Given the description of an element on the screen output the (x, y) to click on. 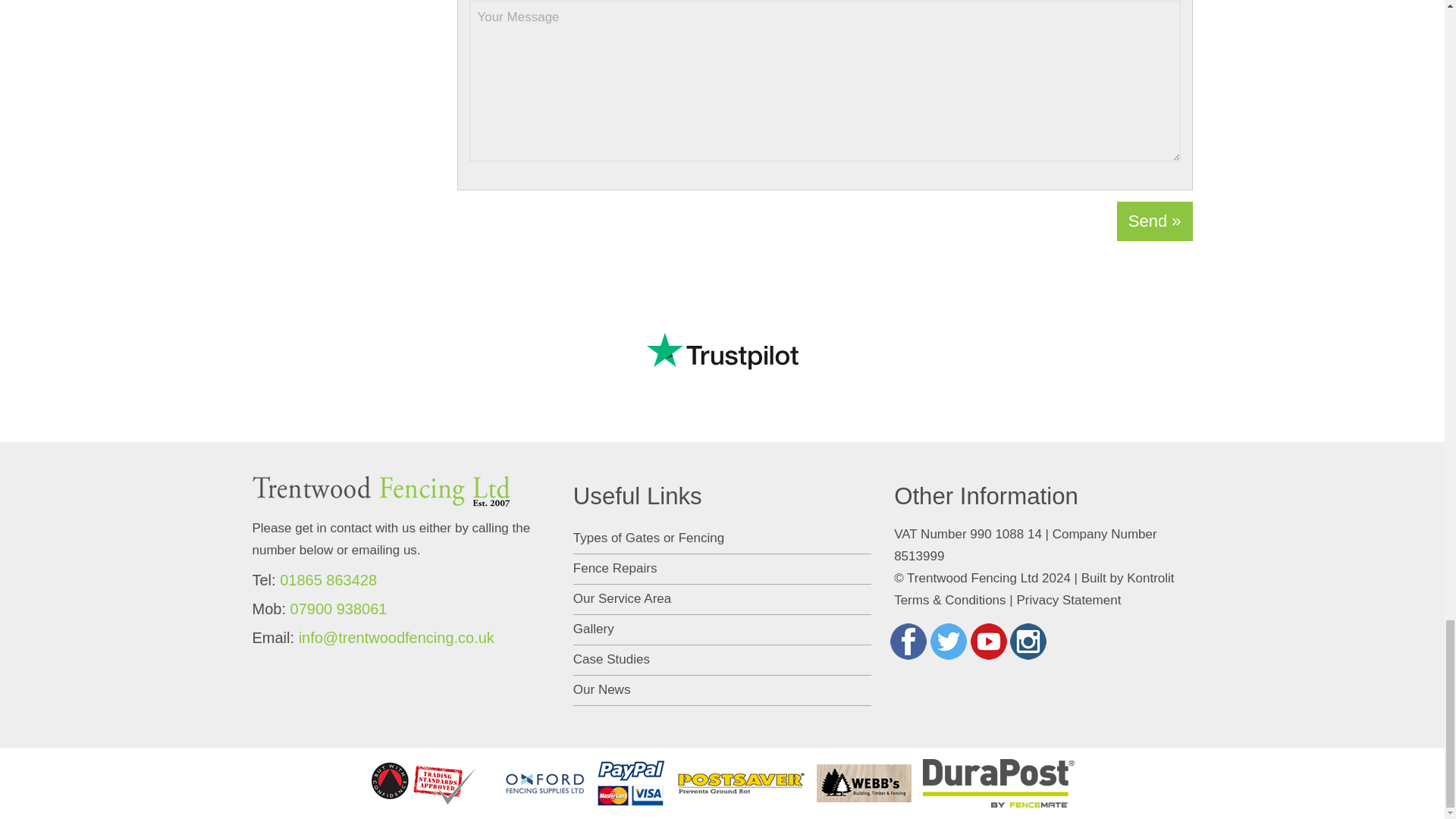
Customer reviews powered by Trustpilot (721, 350)
